Given the description of an element on the screen output the (x, y) to click on. 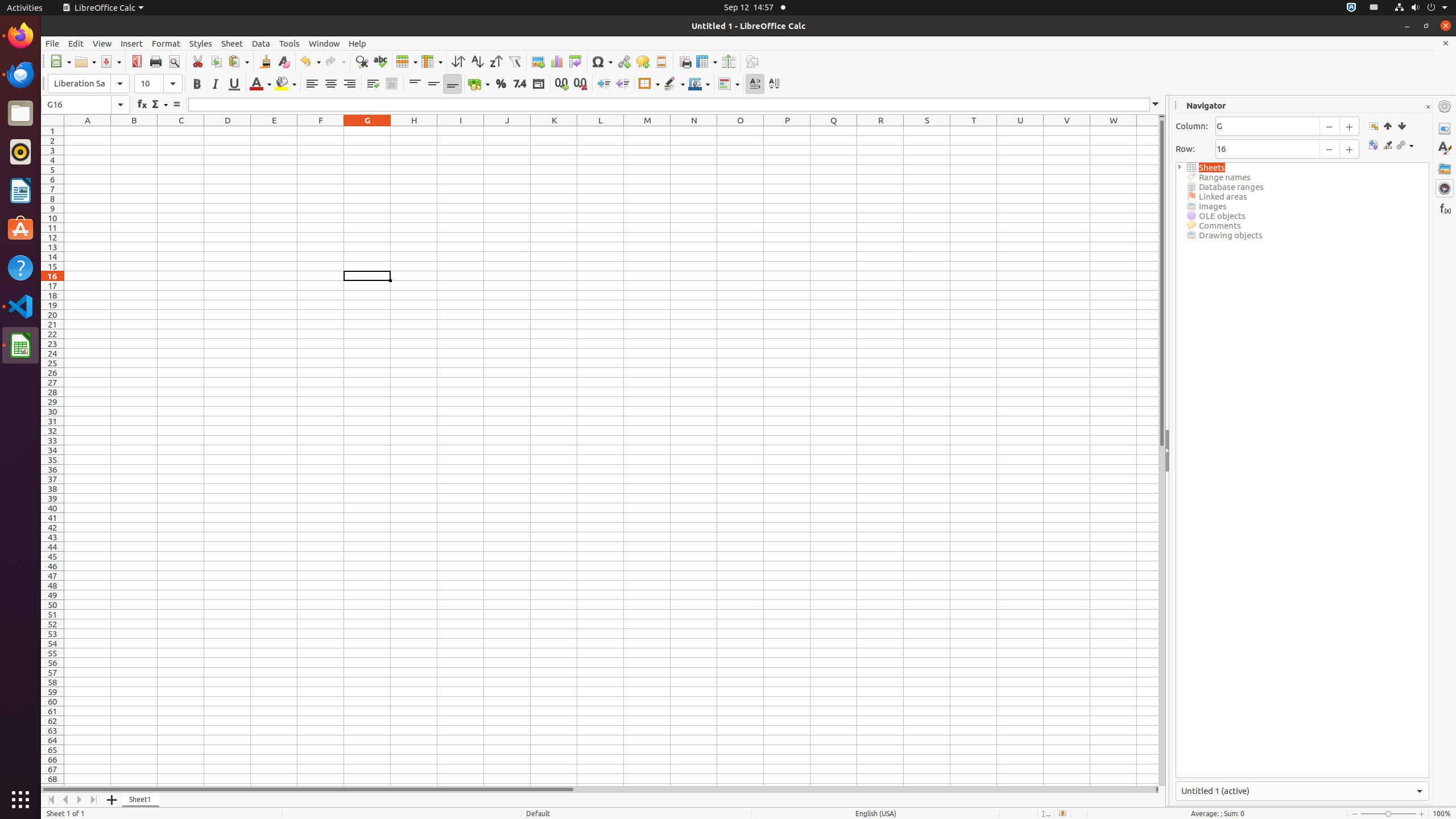
Active Window Element type: combo-box (1302, 790)
V1 Element type: table-cell (1066, 130)
Freeze Rows and Columns Element type: push-button (705, 61)
Select Function Element type: push-button (159, 104)
Expand Formula Bar Element type: push-button (1155, 104)
